Given the description of an element on the screen output the (x, y) to click on. 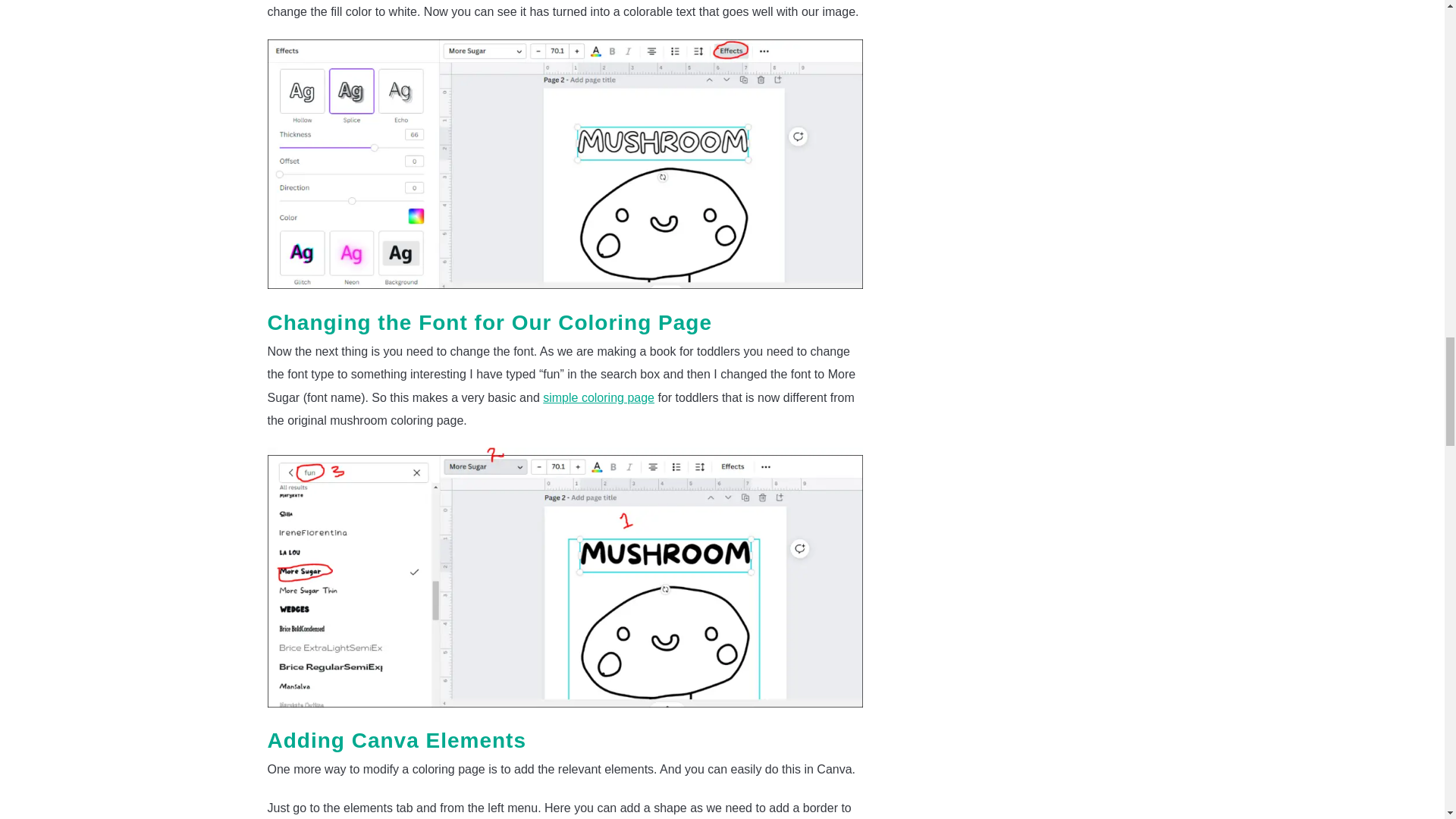
simple coloring page (598, 397)
